Given the description of an element on the screen output the (x, y) to click on. 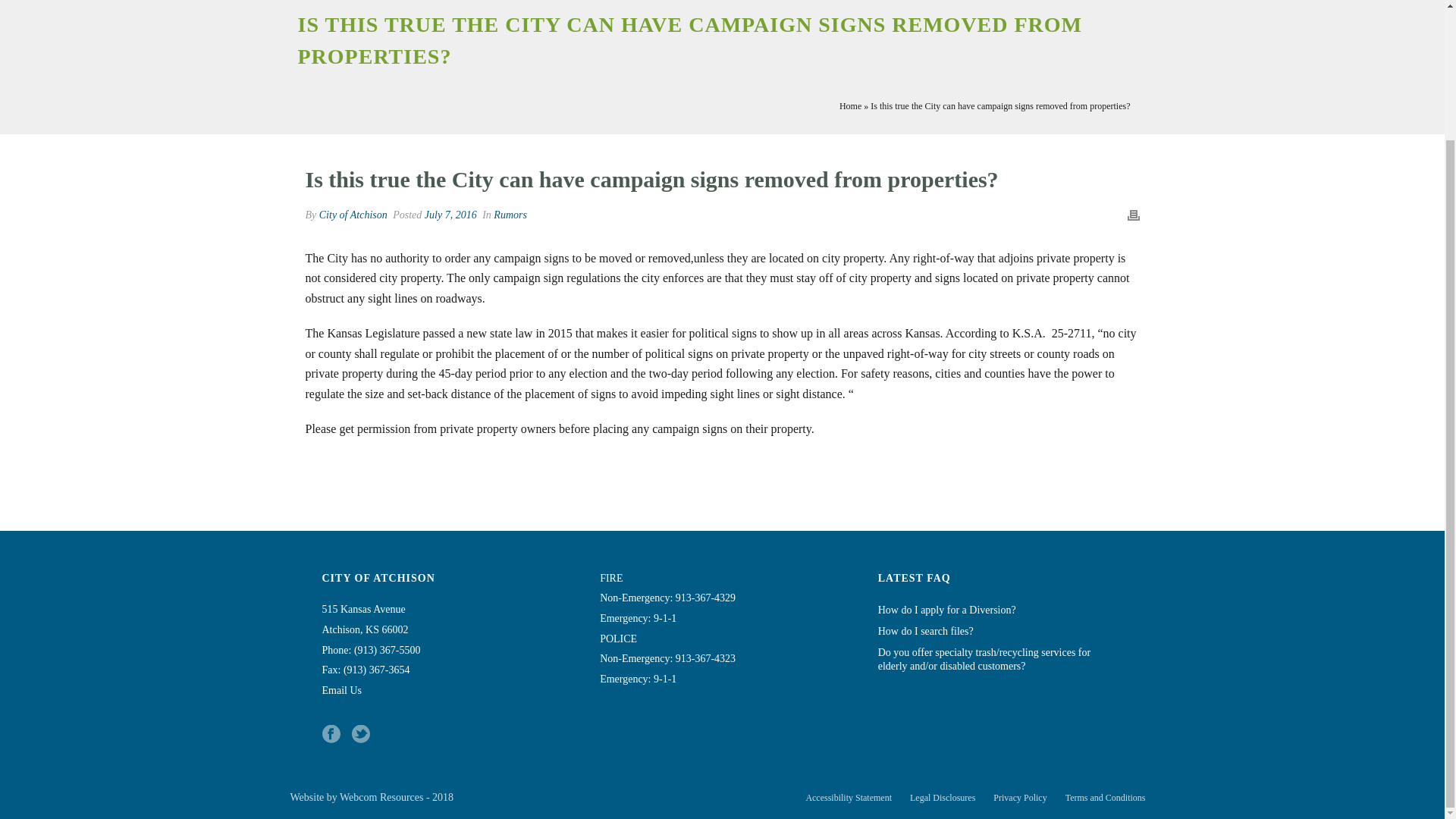
Follow Us on twitter (360, 734)
Follow Us on facebook (330, 734)
Posts by City of Atchison (352, 214)
